Given the description of an element on the screen output the (x, y) to click on. 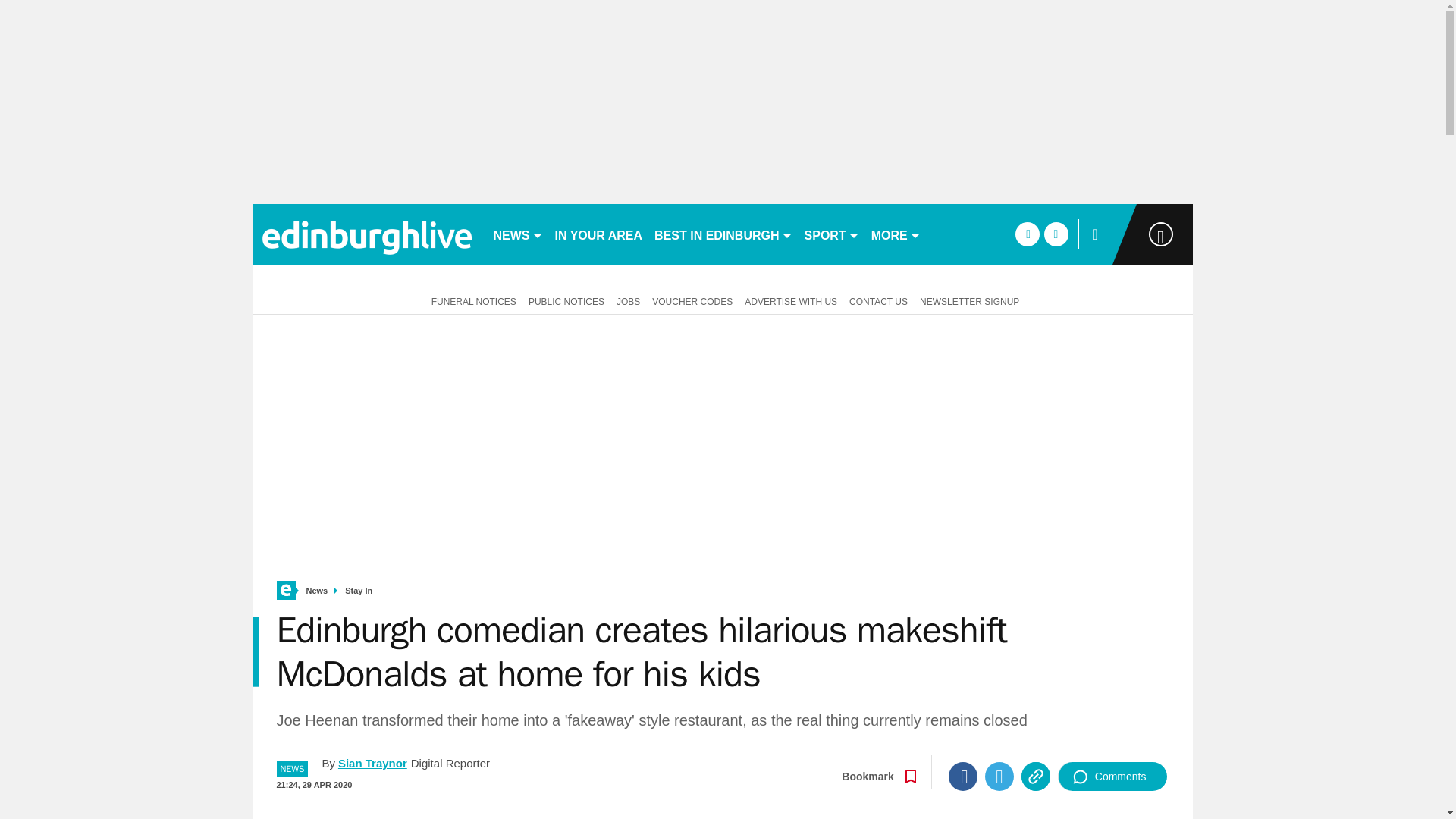
BEST IN EDINBURGH (722, 233)
Twitter (999, 776)
NEWS (517, 233)
IN YOUR AREA (598, 233)
SPORT (830, 233)
edinburghlive (365, 233)
Facebook (962, 776)
twitter (1055, 233)
MORE (895, 233)
facebook (1026, 233)
